Given the description of an element on the screen output the (x, y) to click on. 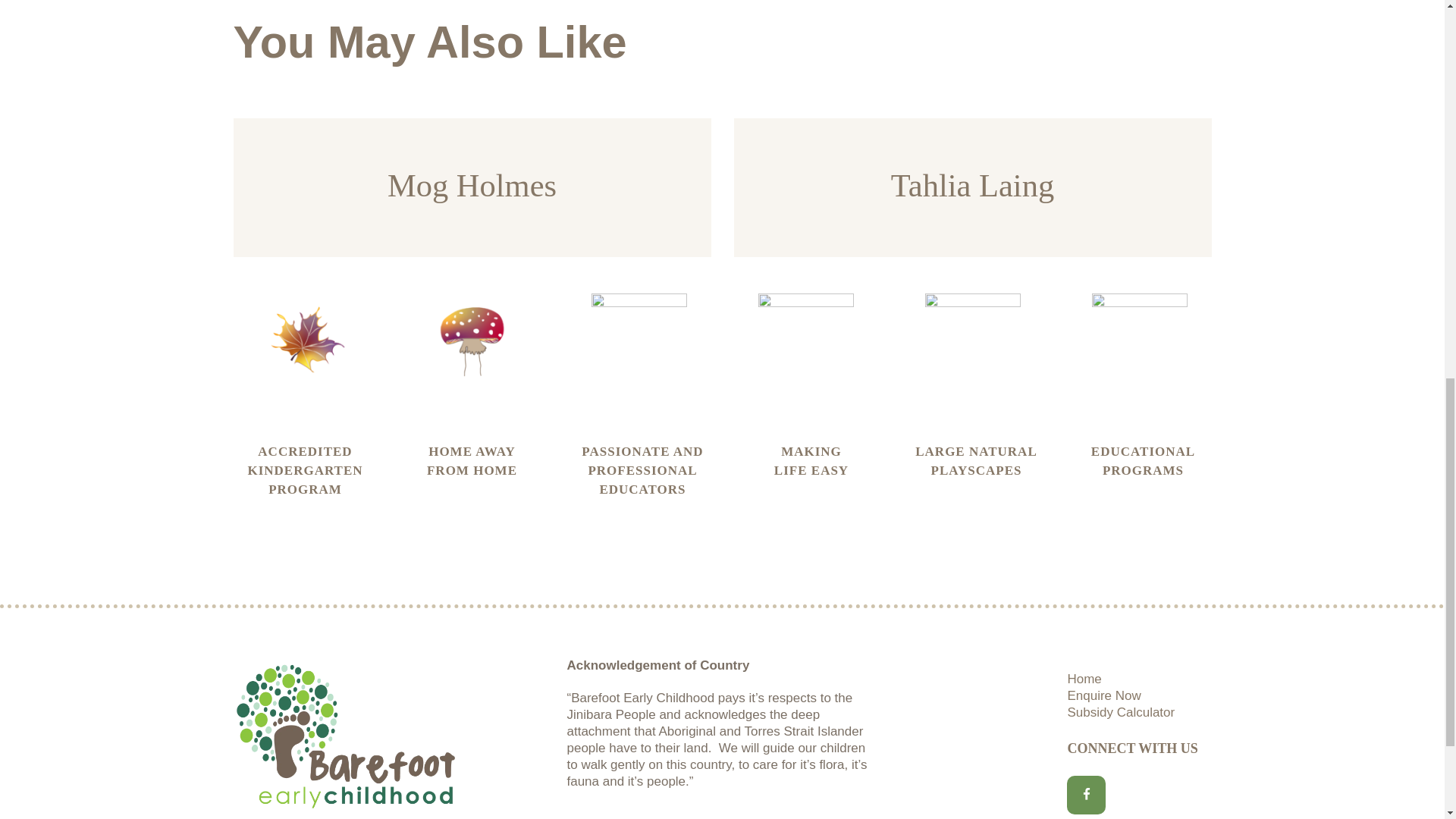
LARGE NATURAL PLAYSCAPES (976, 460)
EDUCATIONAL PROGRAMS (1143, 460)
ACCREDITED KINDERGARTEN PROGRAM (304, 470)
Home Away From Home (472, 460)
Home (1083, 678)
Large Natural Playscapes (976, 460)
Enquire Now (1103, 695)
MAKING LIFE EASY (811, 460)
Subsidy Calculator (1120, 712)
Mog Holmes (471, 185)
Tahlia Laing (972, 185)
PASSIONATE AND PROFESSIONAL EDUCATORS (643, 470)
HOME AWAY FROM HOME (472, 460)
Educational Programs (1143, 460)
Passionate and Professional Educators (643, 470)
